Given the description of an element on the screen output the (x, y) to click on. 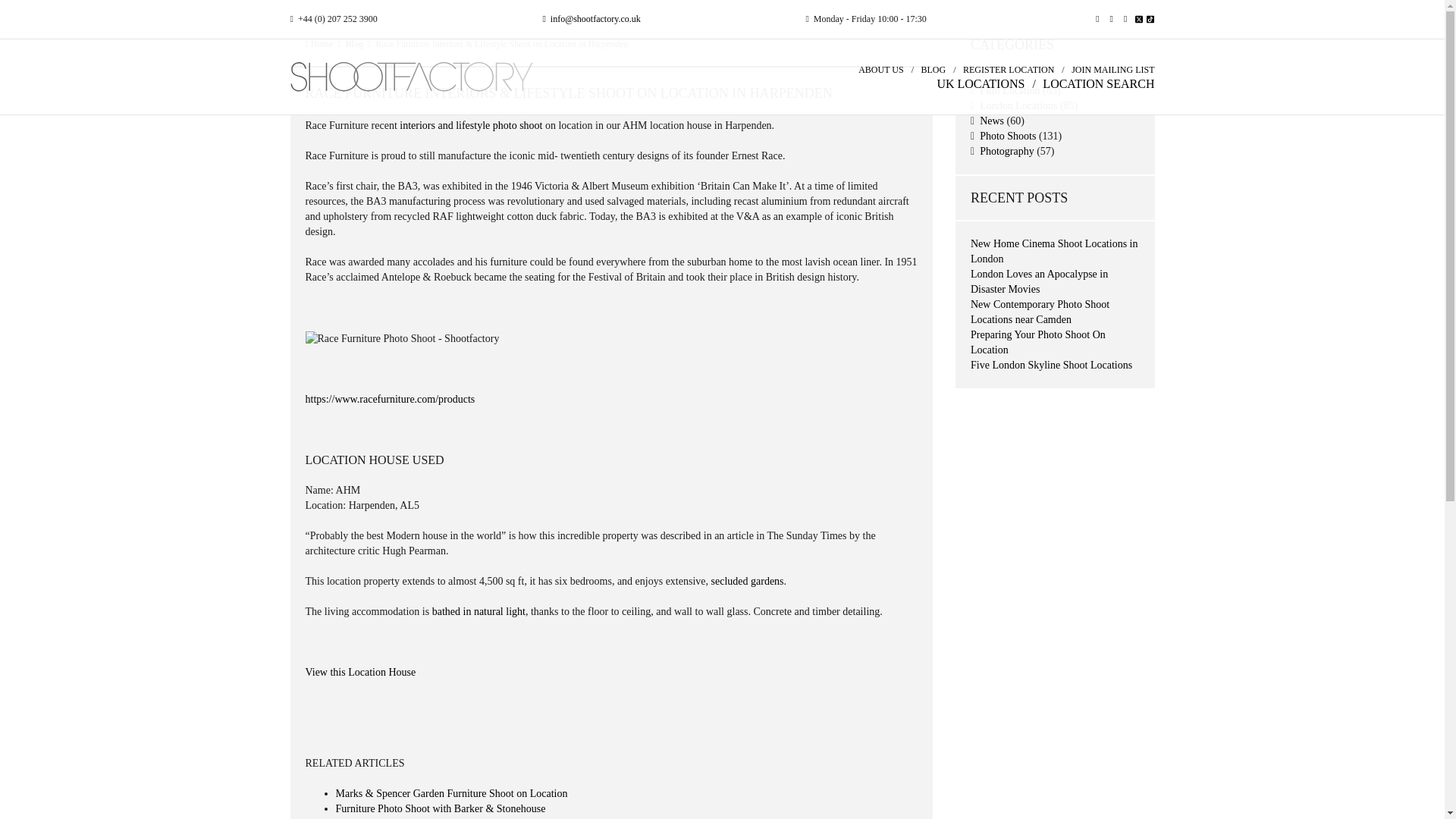
secluded gardens (747, 581)
 Home (318, 43)
LOCATION SEARCH (1098, 83)
ABOUT US (880, 69)
REGISTER LOCATION (1008, 69)
BLOG (932, 69)
interiors and lifestyle photo shoot (469, 125)
